Given the description of an element on the screen output the (x, y) to click on. 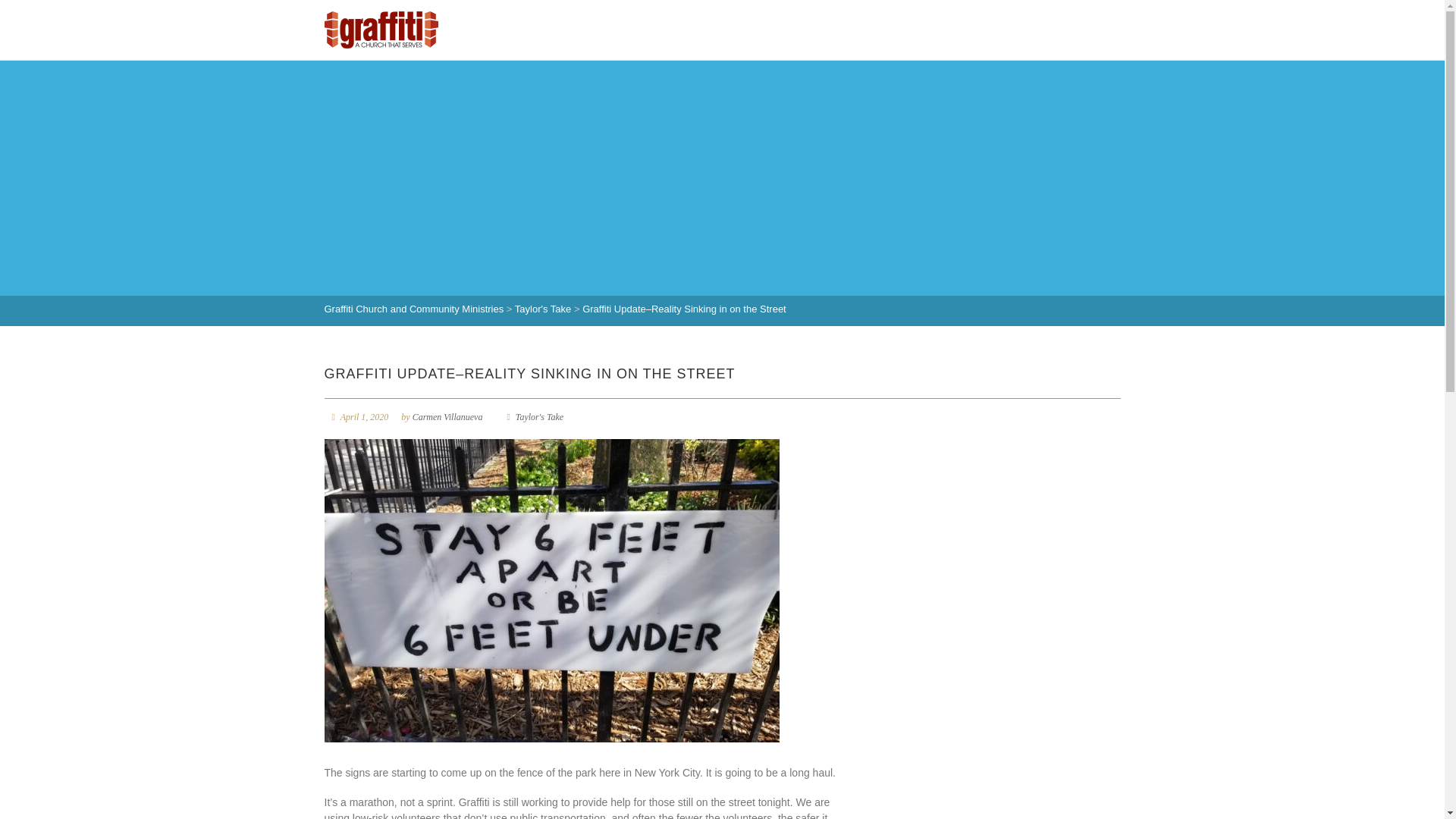
SERVE (1024, 27)
GRAFFITI COMMUNITY MINISTRIES (738, 27)
Graffiti Church Logo (381, 29)
RESOURCES (898, 27)
ABOUT (593, 27)
Graffiti Church and Community Ministries (413, 308)
Carmen Villanueva (447, 416)
Taylor's Take (539, 416)
Go to the Taylor's Take category archives. (543, 308)
Taylor's Take (543, 308)
CONTACT (1087, 27)
Go to Graffiti Church and Community Ministries. (413, 308)
